Given the description of an element on the screen output the (x, y) to click on. 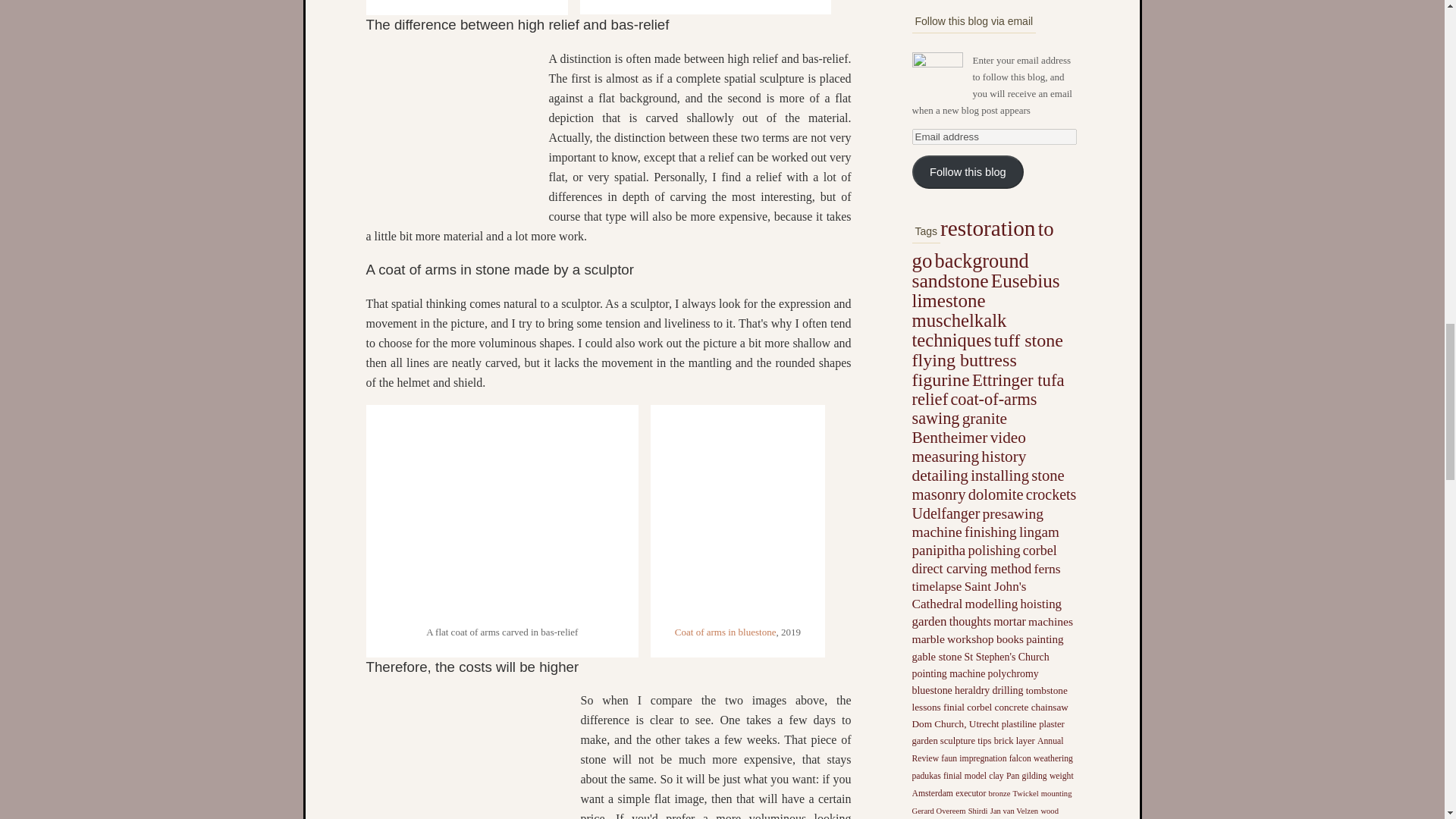
A bluestone coat of arms with two falcons (736, 607)
Coat of arms in bluestone (725, 632)
Email address (993, 136)
